Given the description of an element on the screen output the (x, y) to click on. 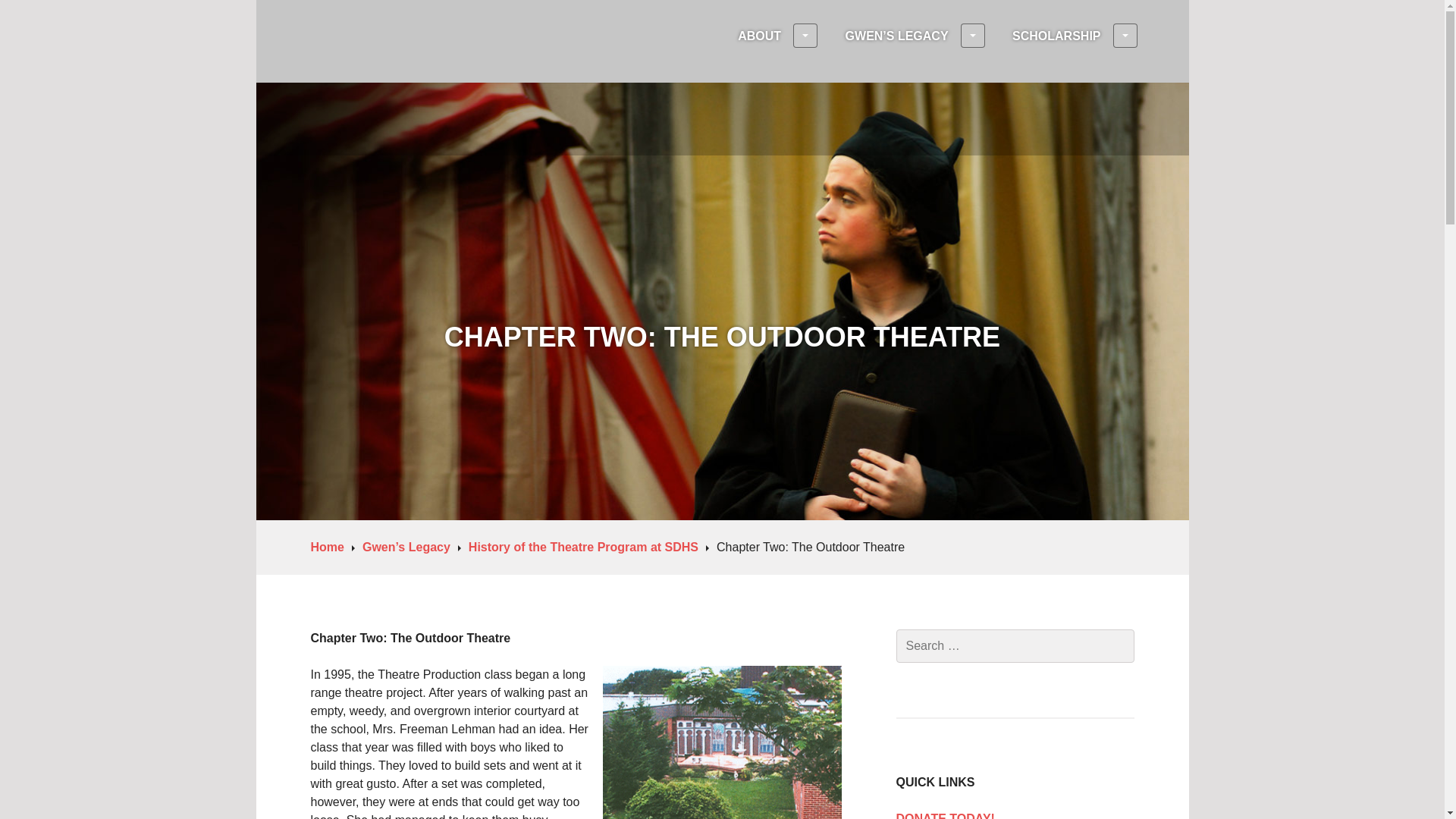
Friends of Gwen Freeman Lehman Foundation (612, 191)
ABOUT (777, 36)
Home (333, 546)
DONATE TODAY! (1015, 814)
SCHOLARSHIP (1074, 36)
Search (45, 16)
History of the Theatre Program at SDHS (588, 546)
